Given the description of an element on the screen output the (x, y) to click on. 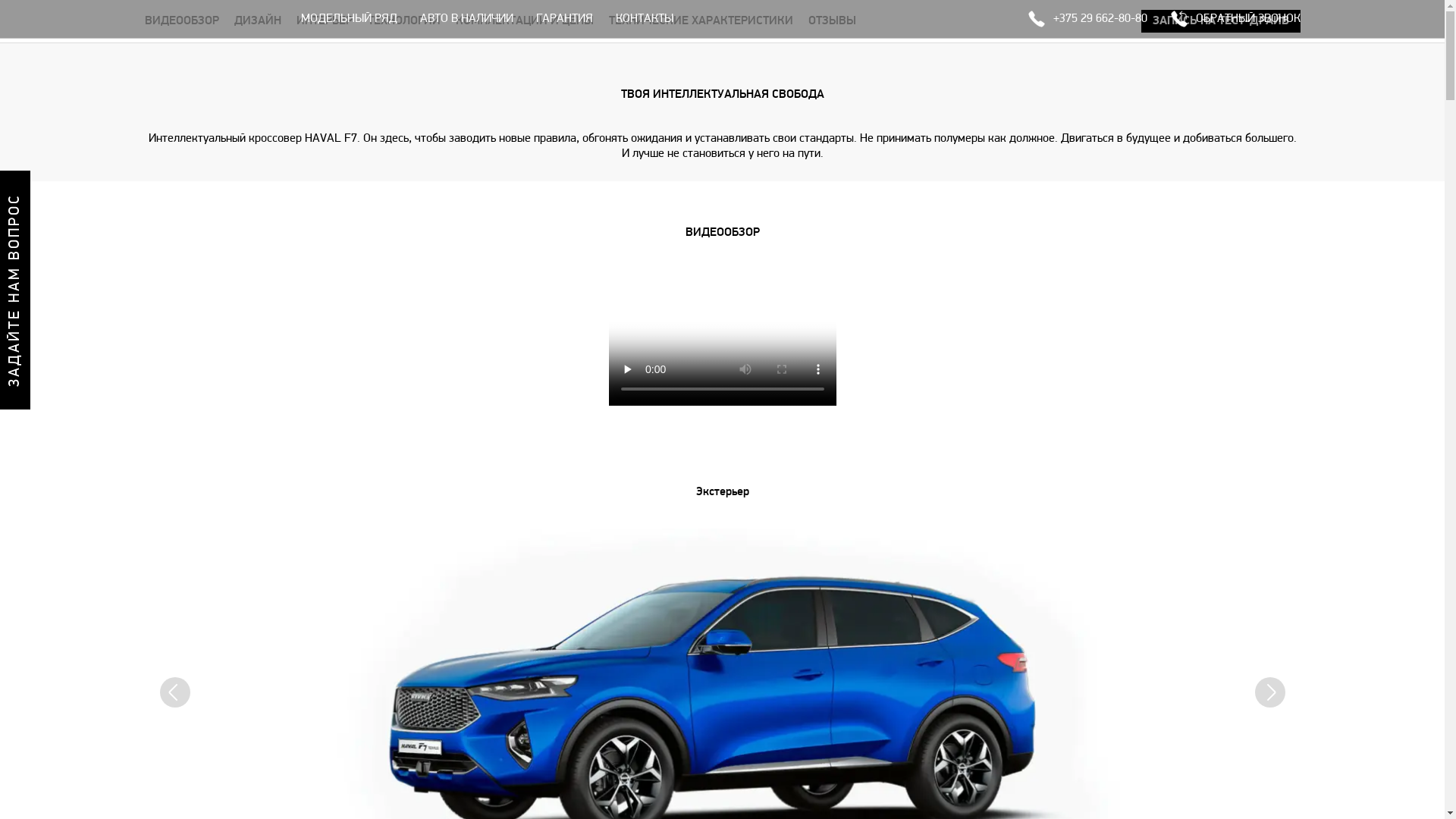
+375 29 662-80-80 Element type: text (1086, 18)
